Given the description of an element on the screen output the (x, y) to click on. 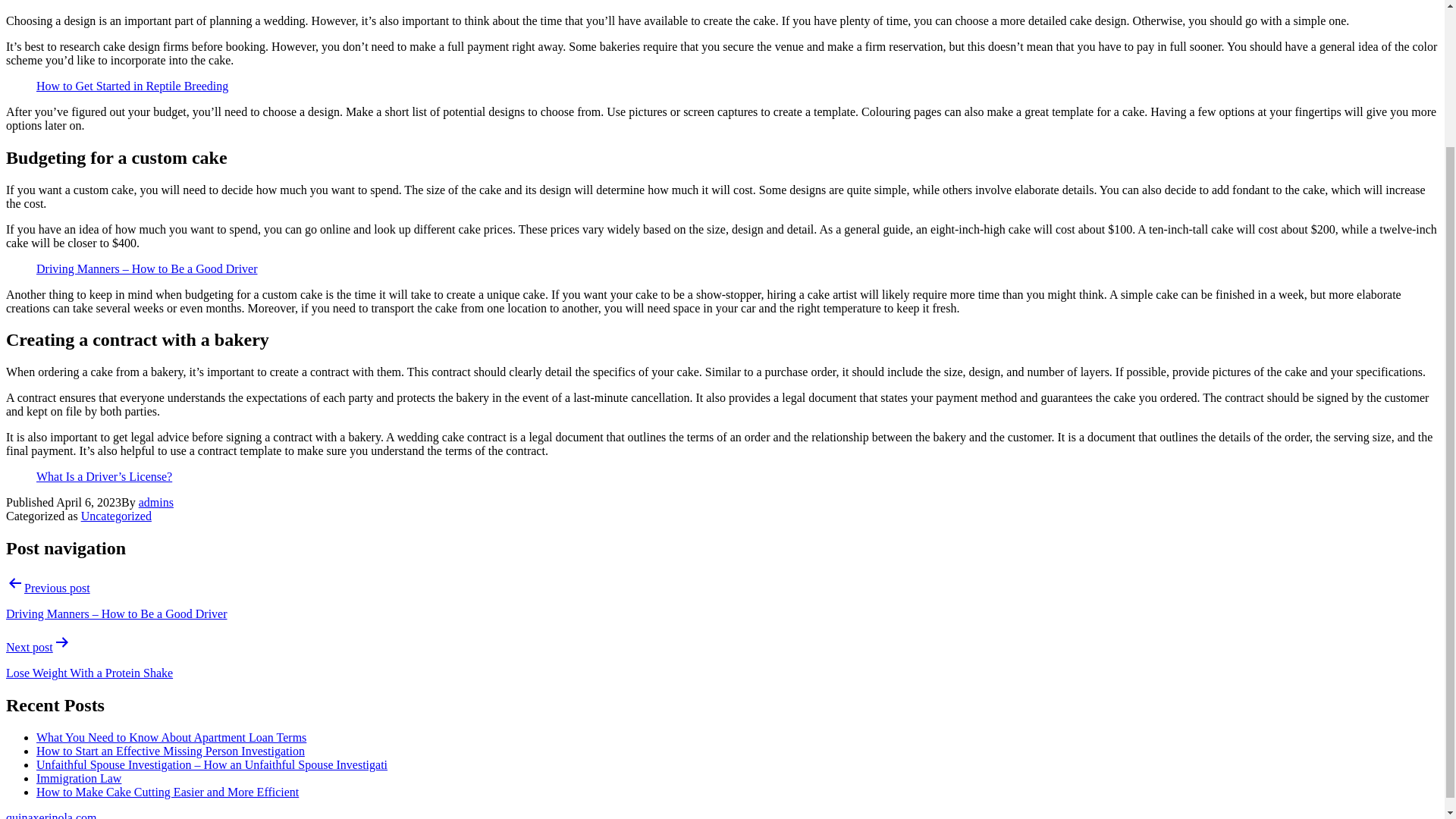
How to Make Cake Cutting Easier and More Efficient (167, 791)
What You Need to Know About Apartment Loan Terms (170, 737)
admins (155, 502)
Immigration Law (78, 778)
How to Start an Effective Missing Person Investigation (170, 750)
Uncategorized (116, 515)
How to Get Started in Reptile Breeding (132, 85)
